Given the description of an element on the screen output the (x, y) to click on. 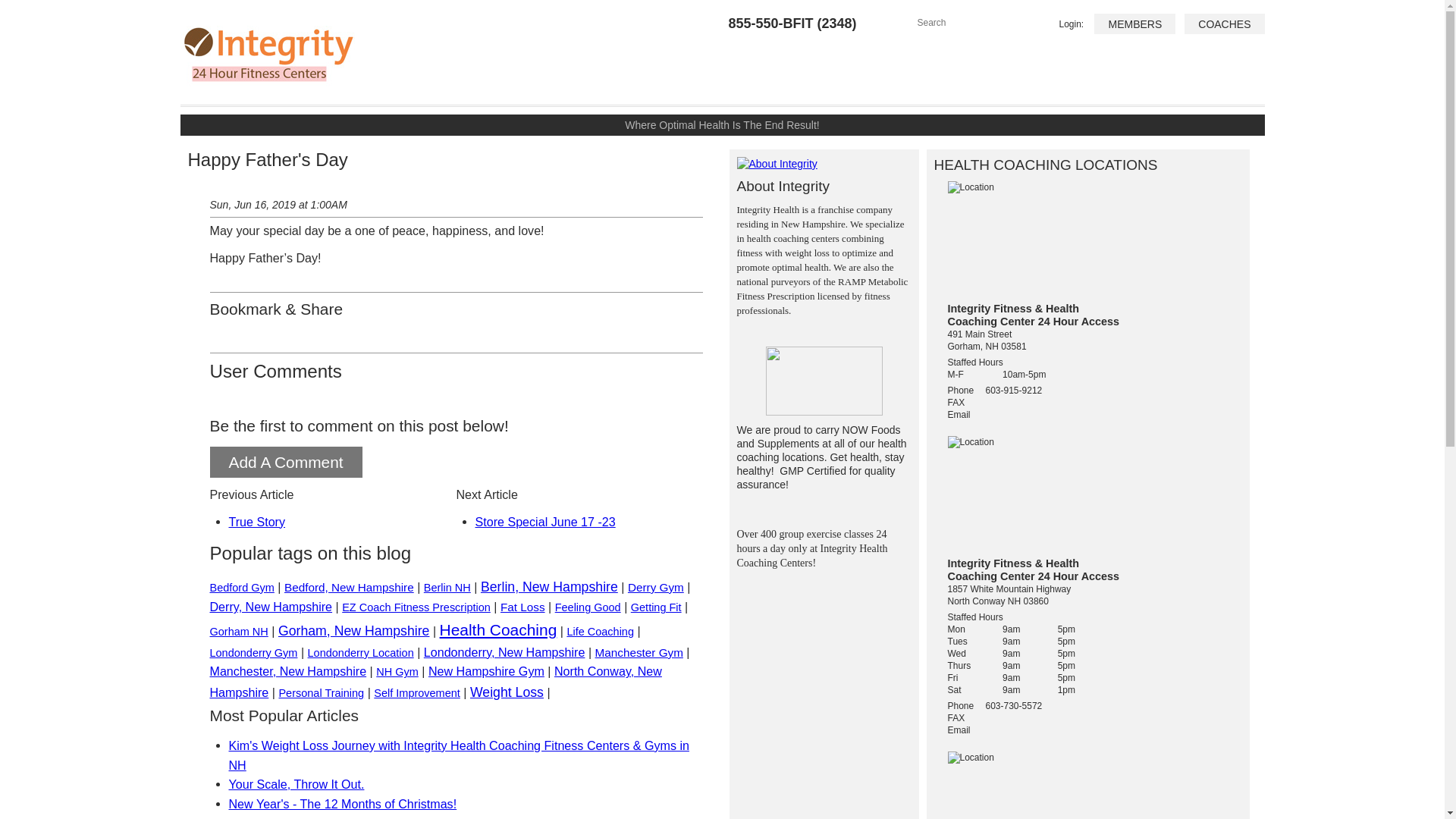
MEMBERS (1134, 23)
COACHES (1224, 23)
Search (970, 21)
